Given the description of an element on the screen output the (x, y) to click on. 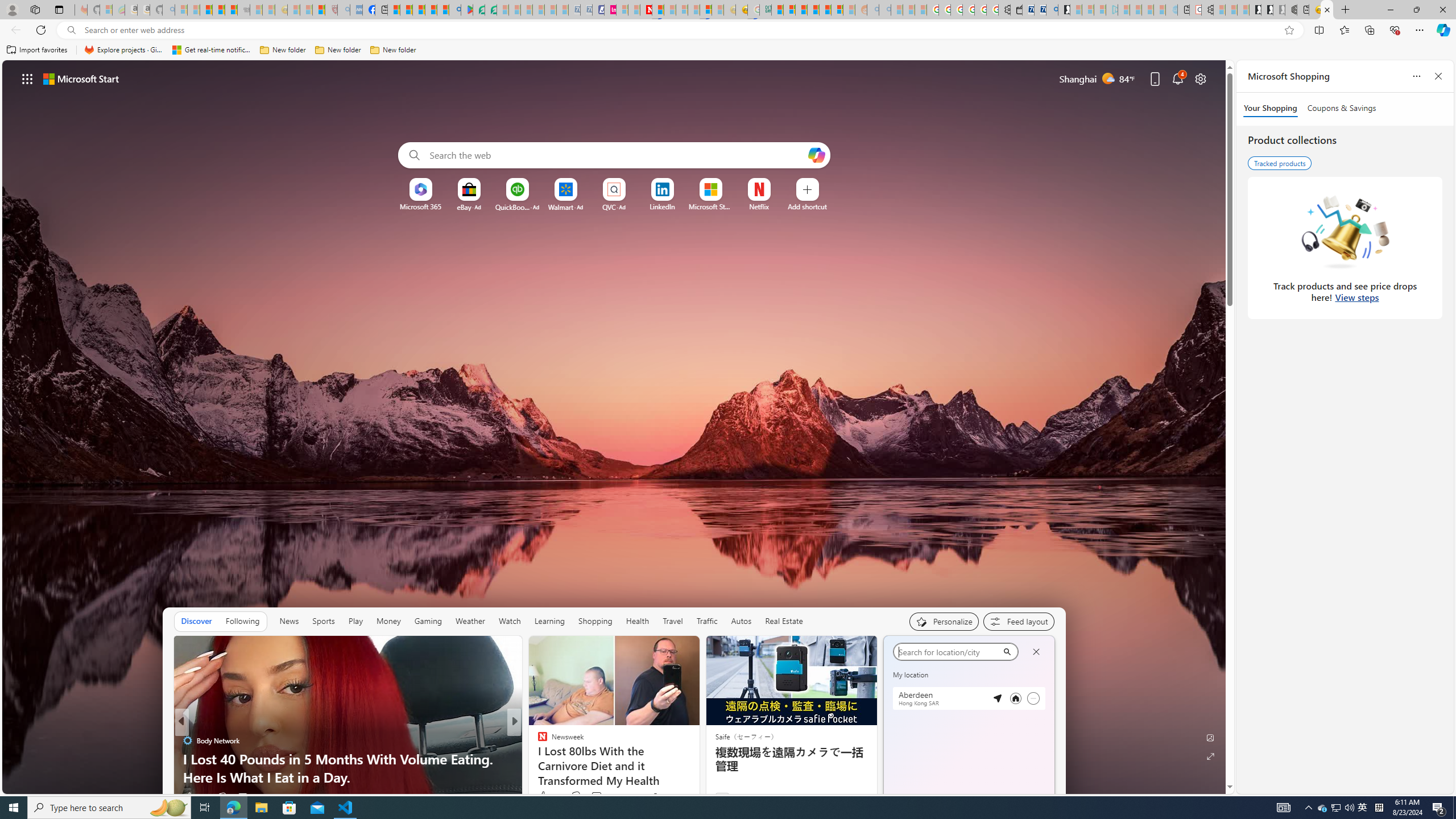
Cancel (1035, 651)
Latest Politics News & Archive | Newsweek.com (645, 9)
How to restart your PC with just the keyboard (697, 777)
search (947, 651)
View comments 13 Comment (597, 796)
